Given the description of an element on the screen output the (x, y) to click on. 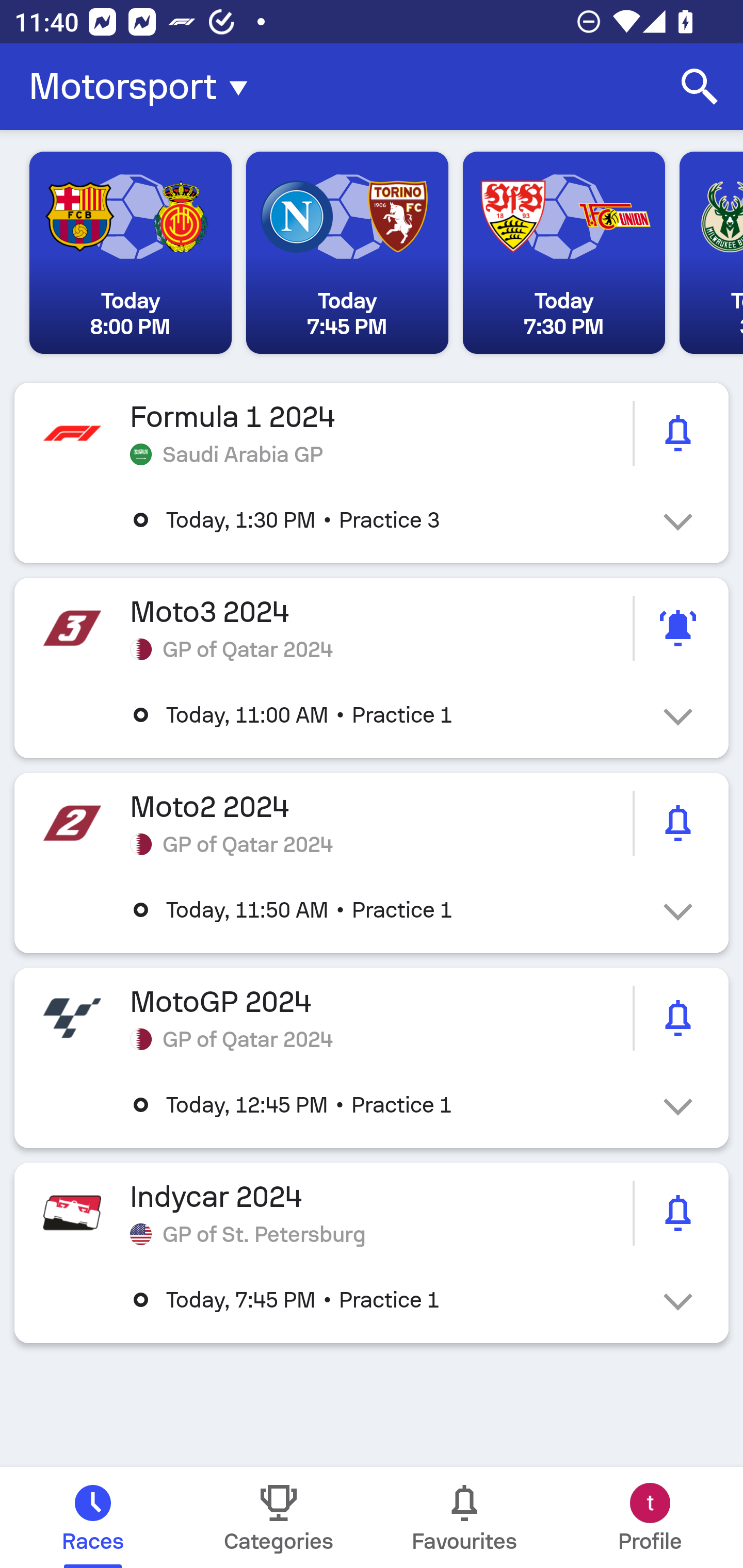
Motorsport (144, 86)
Search (699, 86)
Today
8:00 PM (130, 253)
Today
7:45 PM (346, 253)
Today
7:30 PM (563, 253)
Today, 1:30 PM • Practice 3 (385, 519)
Today, 11:00 AM • Practice 1 (385, 714)
Today, 11:50 AM • Practice 1 (385, 910)
Today, 12:45 PM • Practice 1 (385, 1104)
Today, 7:45 PM • Practice 1 (385, 1299)
Categories (278, 1517)
Favourites (464, 1517)
Profile (650, 1517)
